Given the description of an element on the screen output the (x, y) to click on. 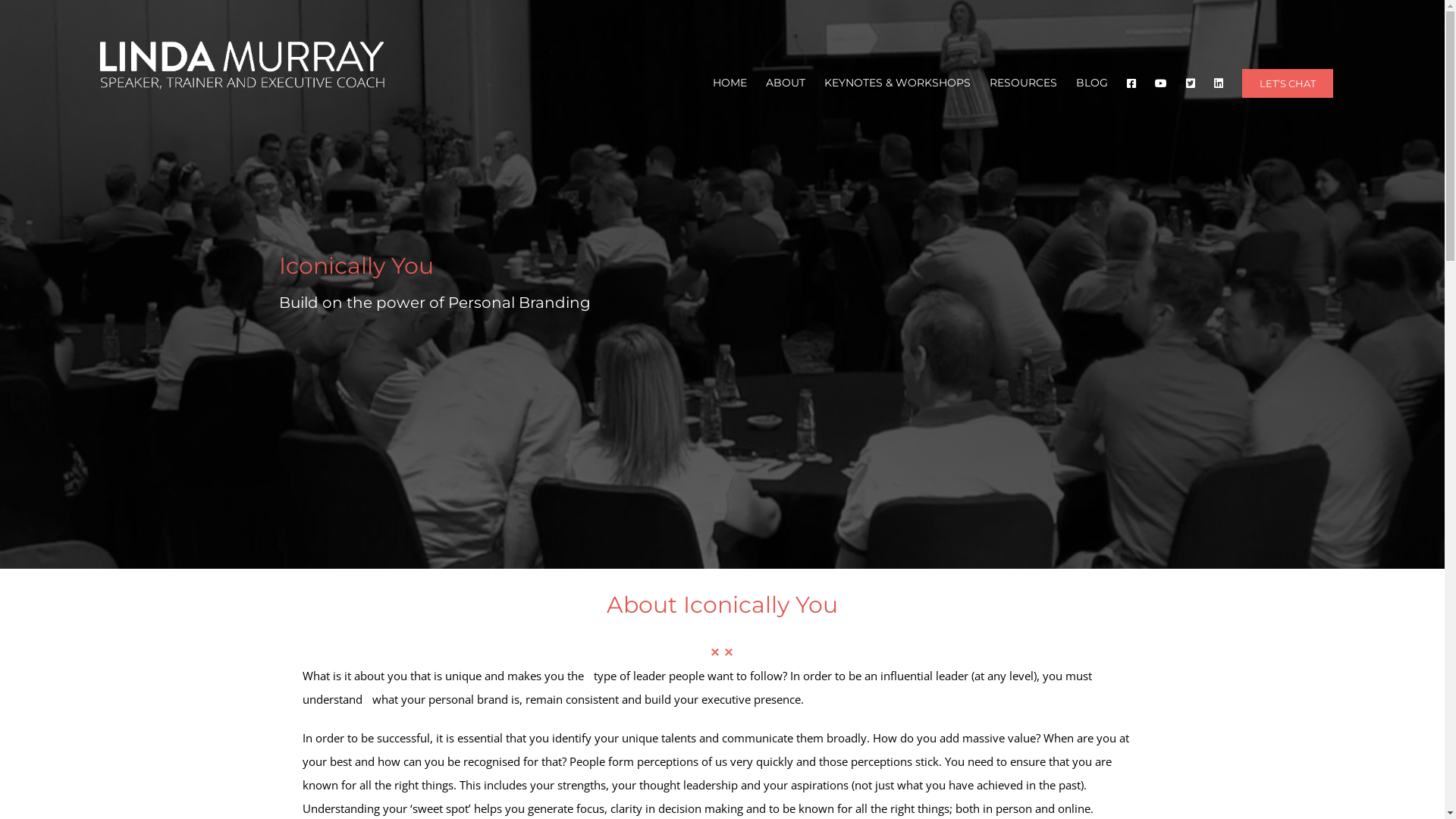
KEYNOTES & WORKSHOPS Element type: text (897, 82)
ABOUT Element type: text (785, 82)
RESOURCES Element type: text (1023, 82)
HOME Element type: text (729, 82)
BLOG Element type: text (1091, 82)
